Given the description of an element on the screen output the (x, y) to click on. 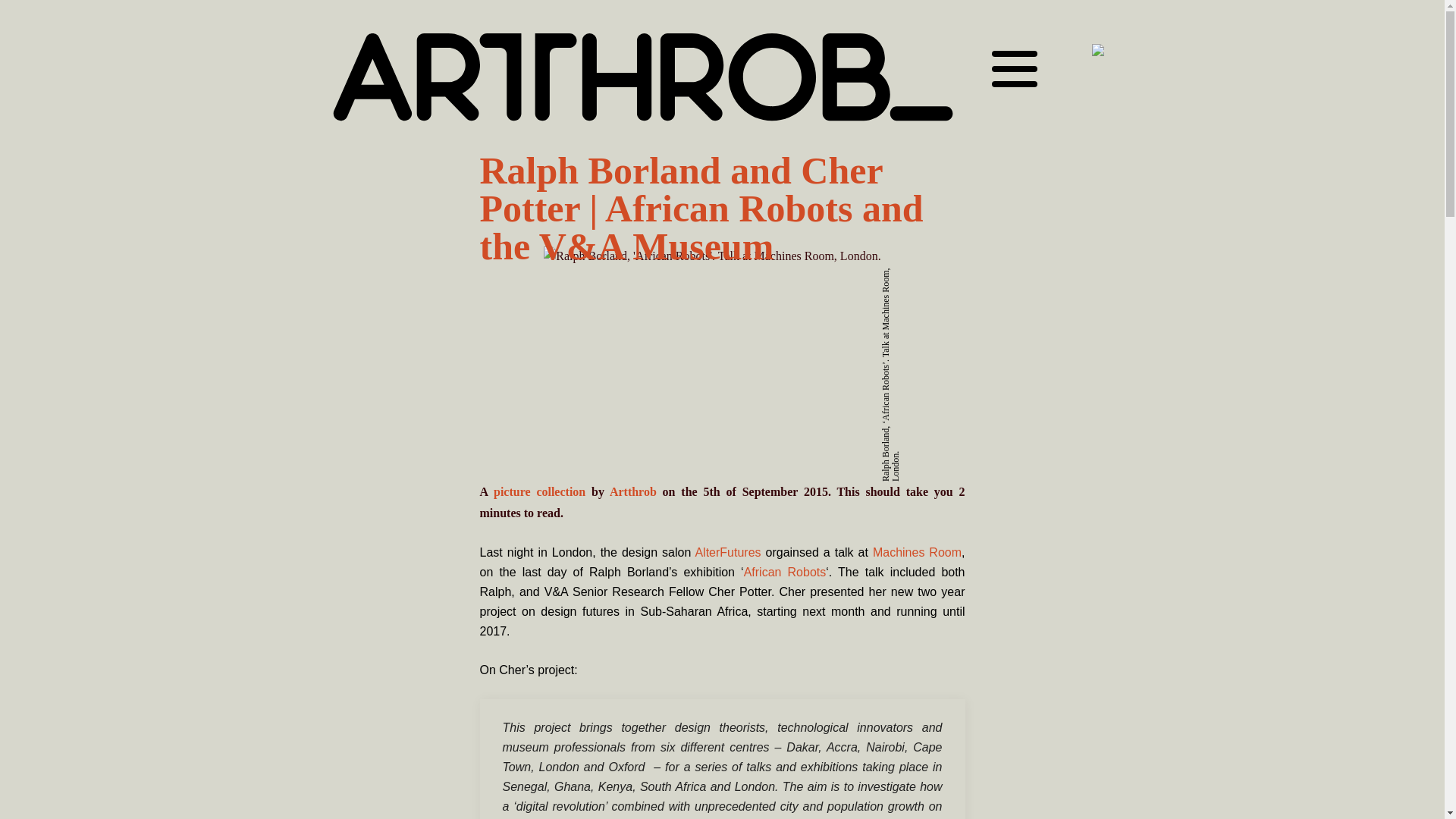
Machines Room (916, 552)
picture collection (539, 491)
AlterFutures (727, 552)
African Robots (785, 571)
Artthrob (633, 491)
